Given the description of an element on the screen output the (x, y) to click on. 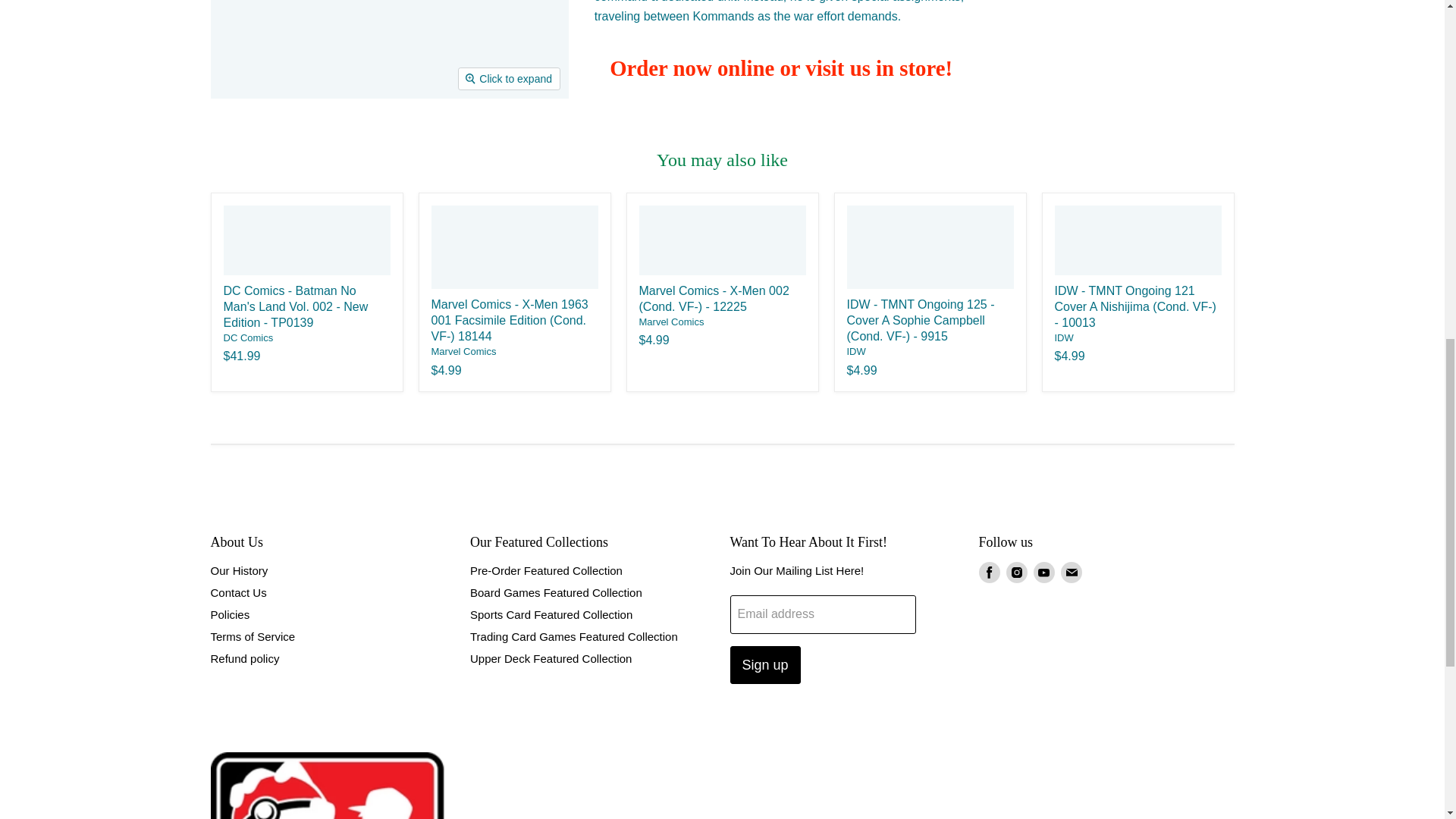
Email (1070, 572)
Youtube (1043, 572)
Marvel Comics (463, 351)
IDW (854, 351)
DC Comics (247, 337)
Facebook (988, 572)
IDW (1063, 337)
Instagram (1016, 572)
Marvel Comics (671, 321)
